Given the description of an element on the screen output the (x, y) to click on. 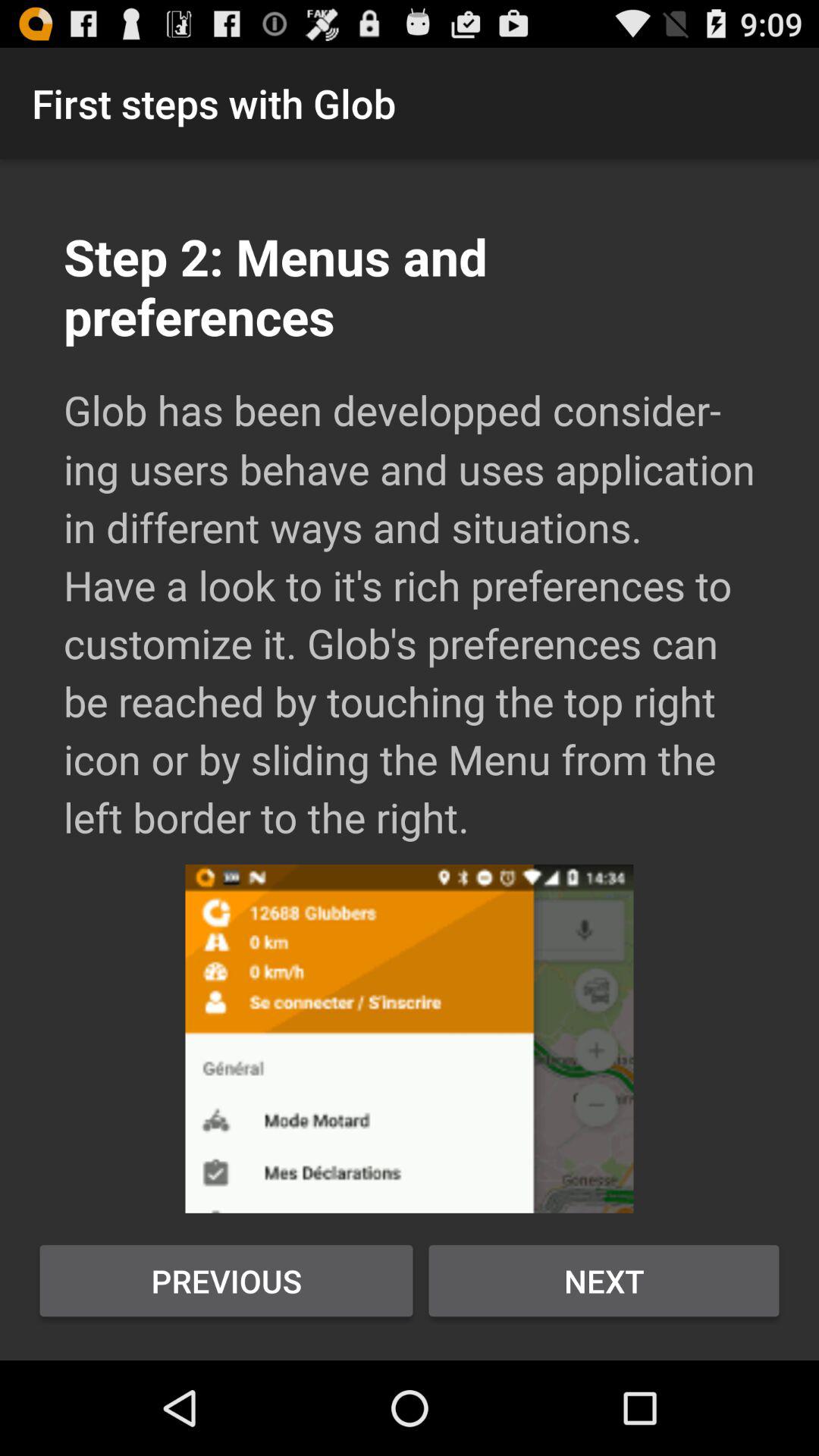
press the icon at the bottom left corner (225, 1280)
